Given the description of an element on the screen output the (x, y) to click on. 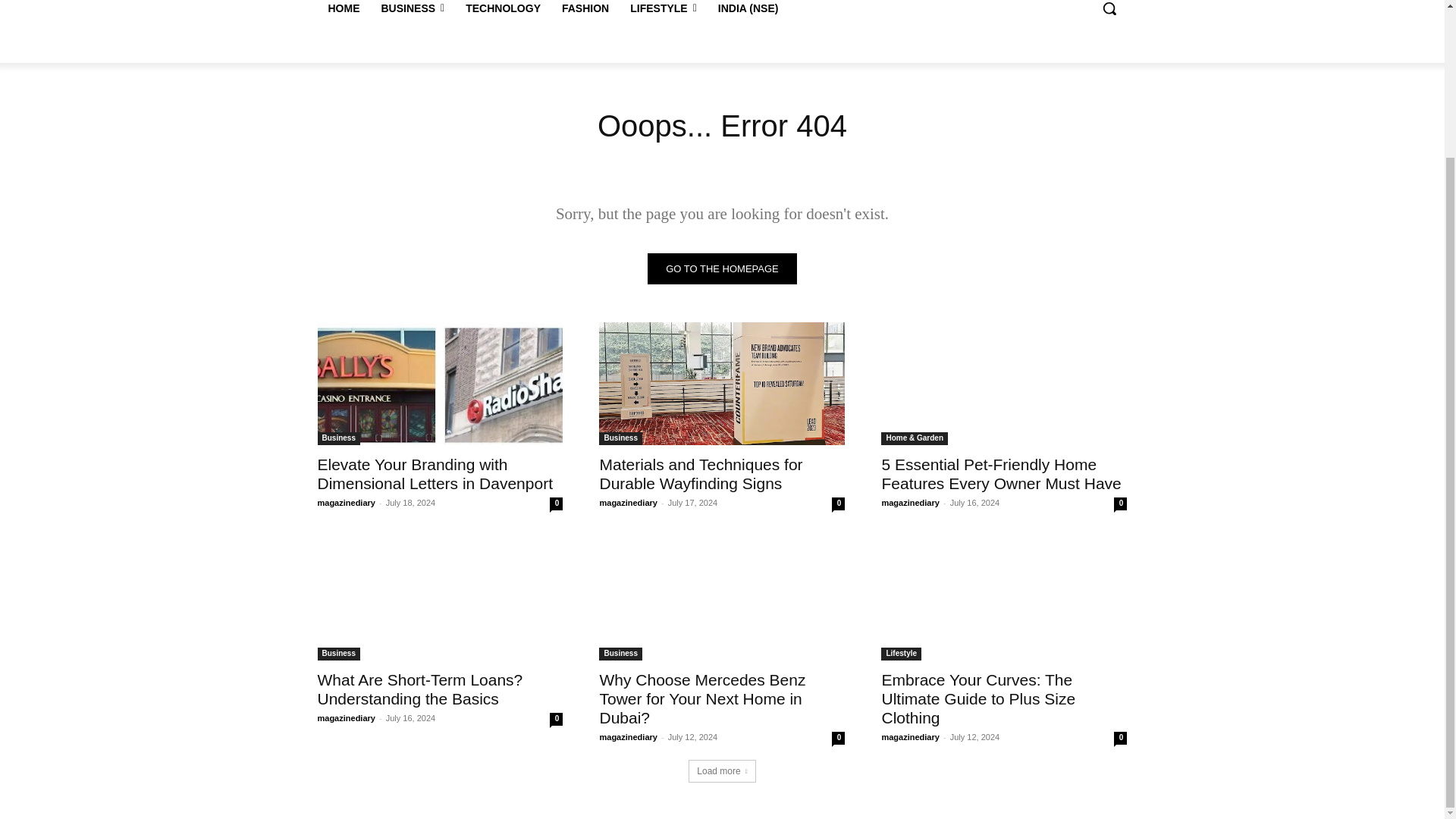
GO TO THE HOMEPAGE (721, 268)
5 Essential Pet-Friendly Home Features Every Owner Must Have (1000, 473)
Materials and Techniques for Durable Wayfinding Signs (700, 473)
0 (837, 503)
LIFESTYLE (663, 13)
Elevate Your Branding with Dimensional Letters in Davenport (435, 473)
Business (338, 438)
magazinediary (345, 501)
magazinediary (627, 501)
Materials and Techniques for Durable Wayfinding Signs (721, 383)
TECHNOLOGY (502, 13)
5 Essential Pet-Friendly Home Features Every Owner Must Have (1003, 383)
BUSINESS (411, 13)
FASHION (585, 13)
Materials and Techniques for Durable Wayfinding Signs (700, 473)
